Given the description of an element on the screen output the (x, y) to click on. 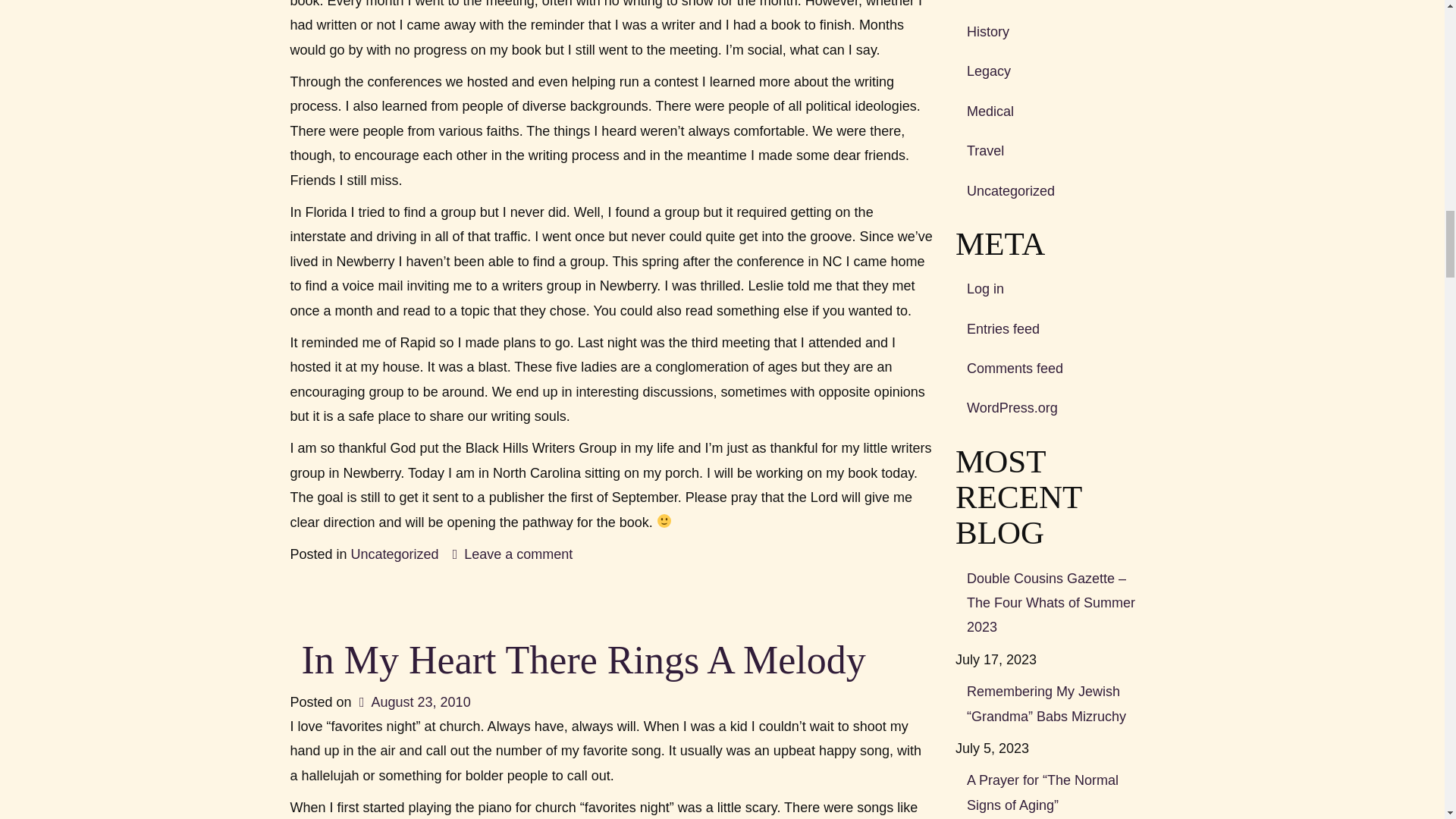
In My Heart There Rings A Melody (583, 659)
August 23, 2010 (412, 702)
Leave a comment (512, 554)
Uncategorized (394, 554)
